Given the description of an element on the screen output the (x, y) to click on. 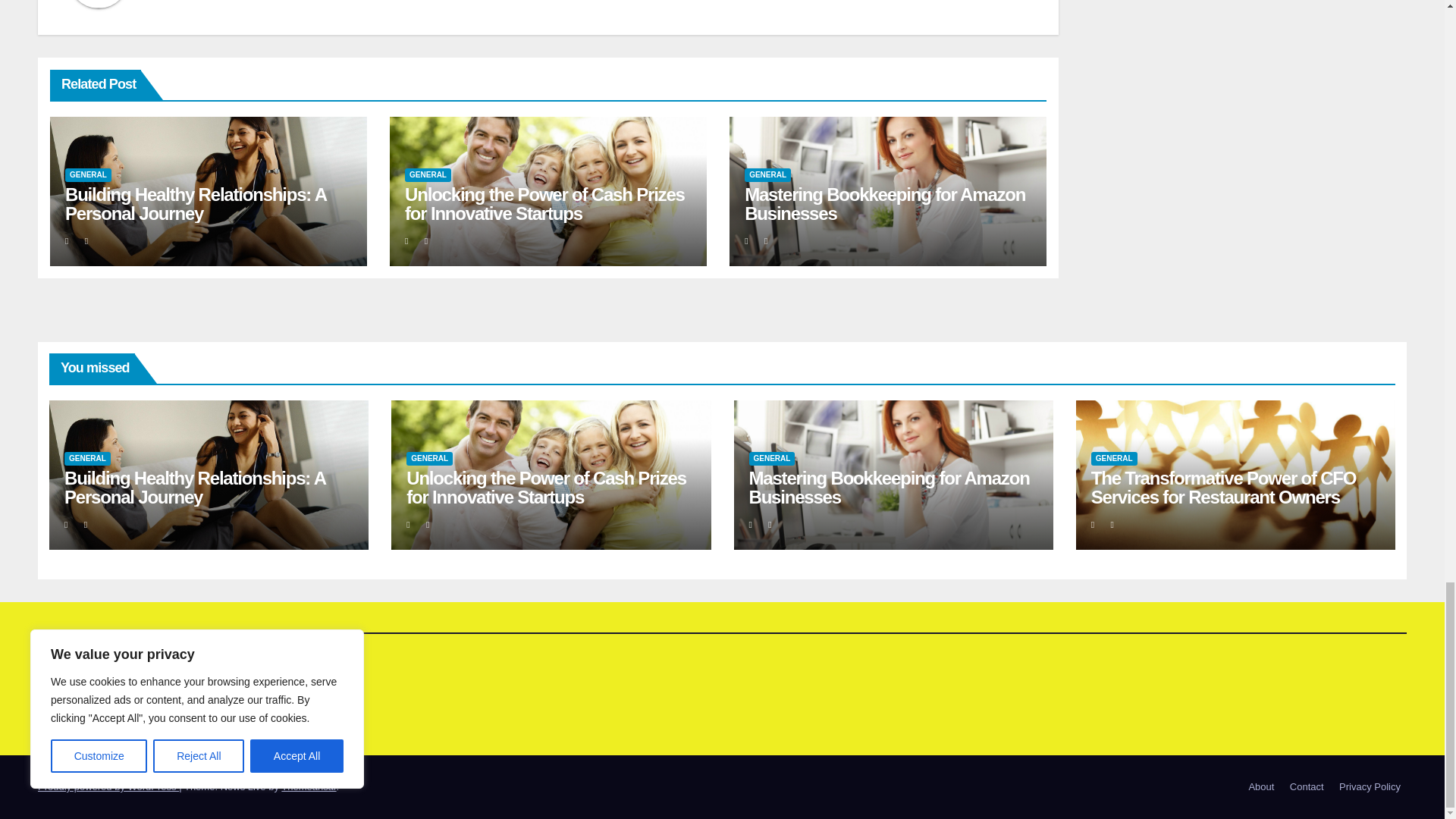
Permalink to: Mastering Bookkeeping for Amazon Businesses (889, 486)
Privacy Policy (1369, 786)
Permalink to: Mastering Bookkeeping for Amazon Businesses (884, 203)
About (1260, 786)
Contact (1307, 786)
